Given the description of an element on the screen output the (x, y) to click on. 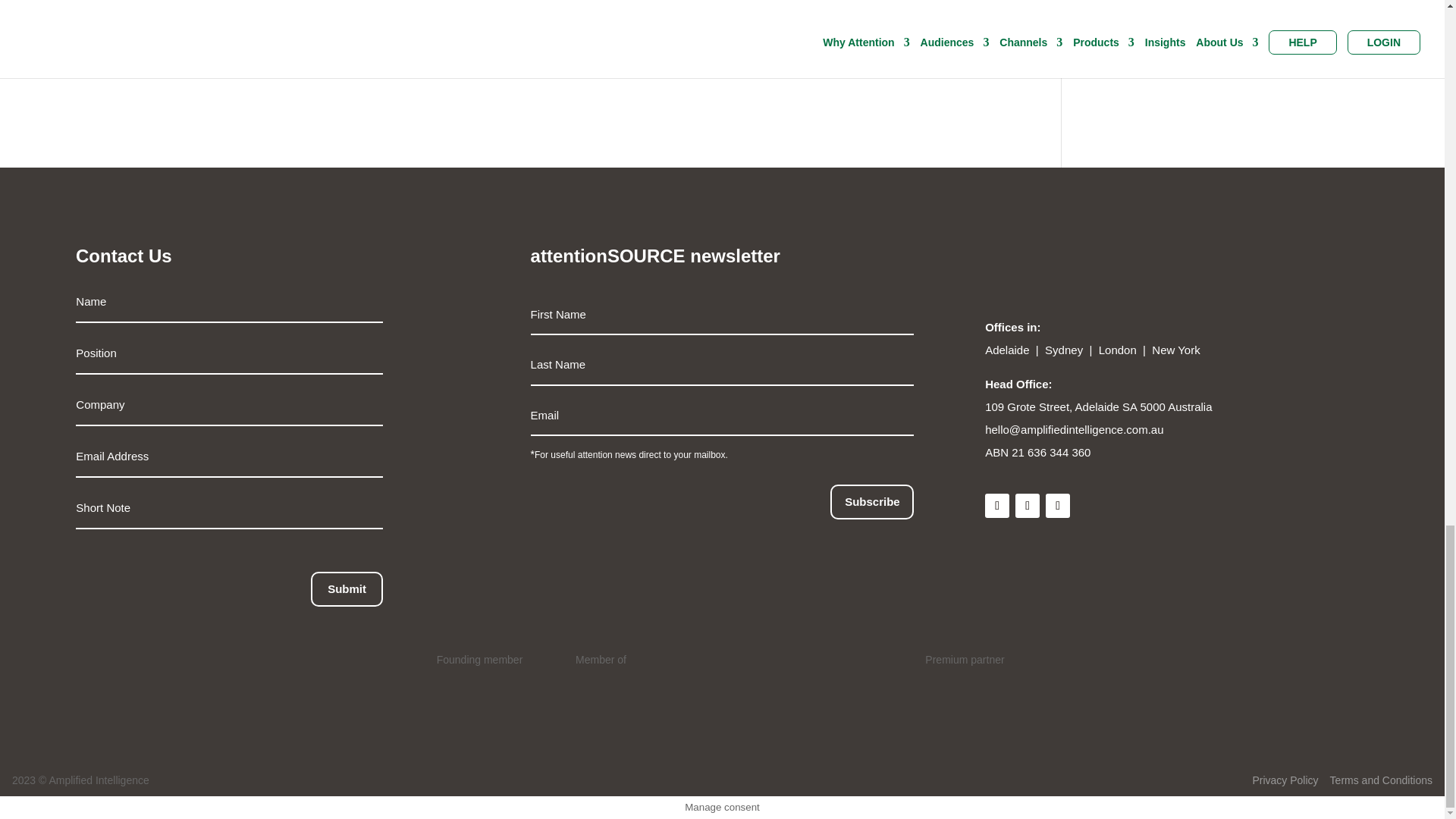
Only letters allowed. (228, 353)
Follow on LinkedIn (997, 505)
Follow on X (1026, 505)
Maximum length: 240 characters. (228, 508)
Follow on Youtube (1057, 505)
